Given the description of an element on the screen output the (x, y) to click on. 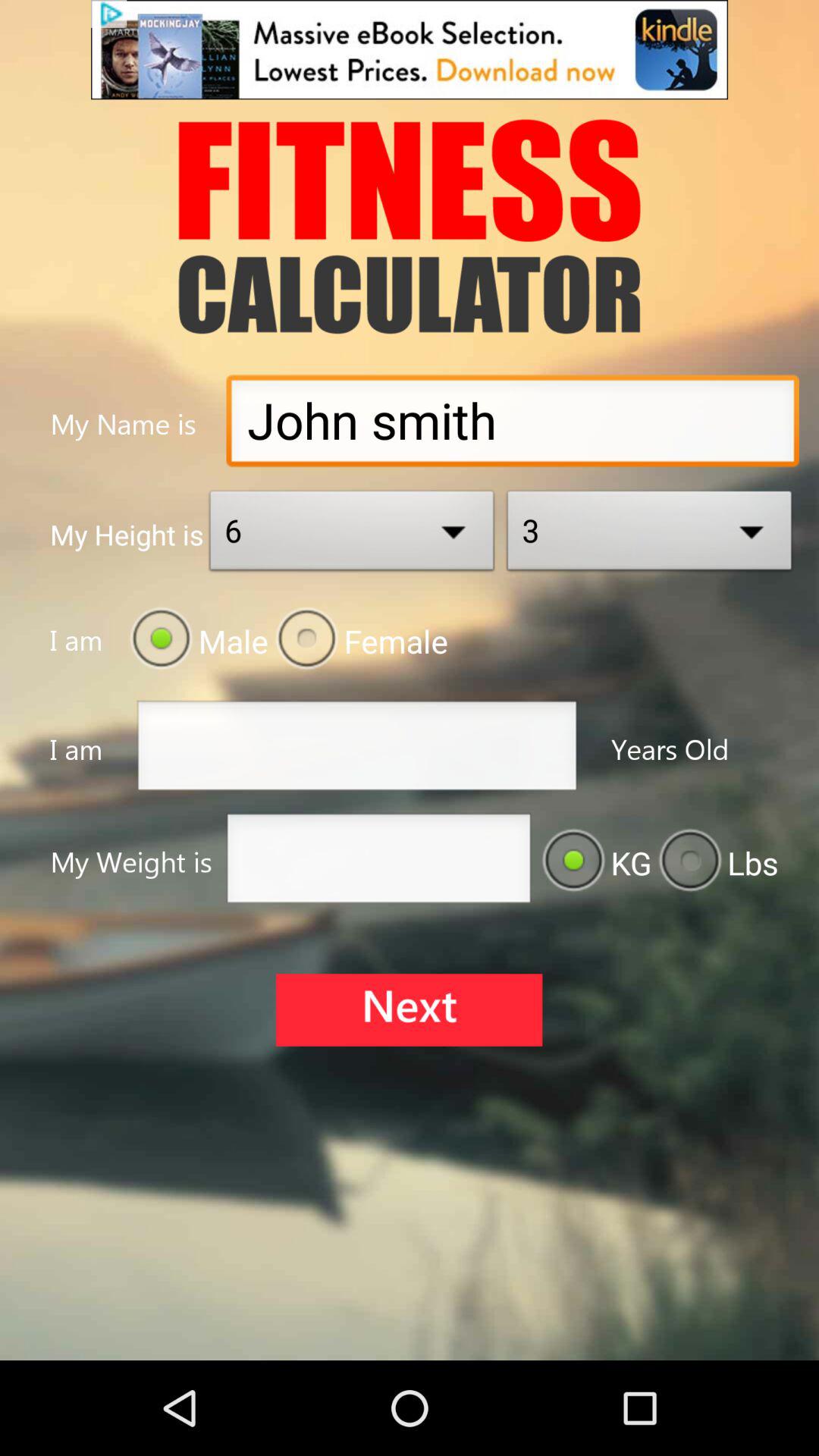
enter your age (357, 749)
